Given the description of an element on the screen output the (x, y) to click on. 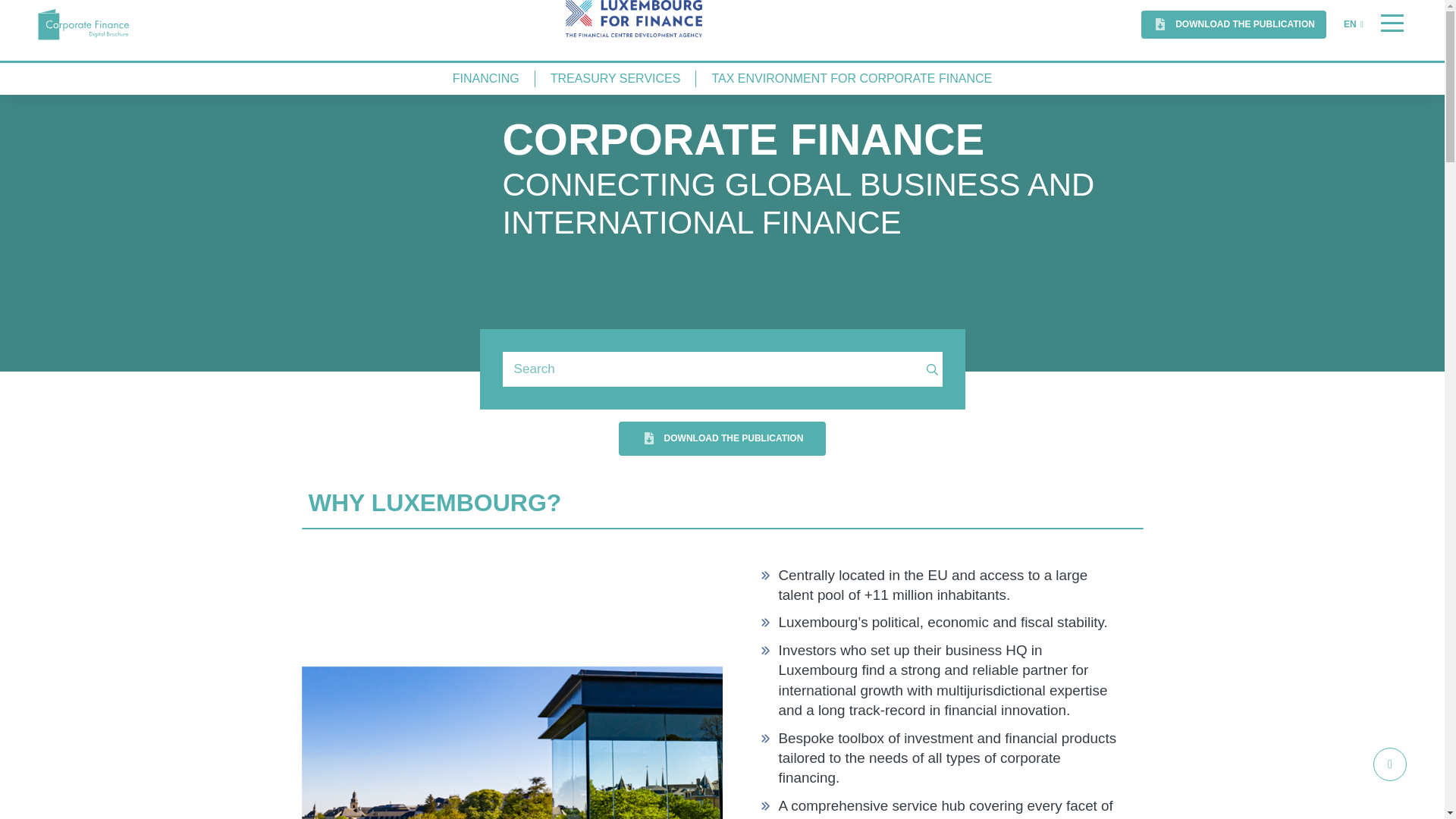
TREASURY SERVICES (615, 79)
TAX ENVIRONMENT FOR CORPORATE FINANCE (851, 79)
FINANCING (486, 79)
EN (1353, 24)
MENU (1391, 23)
DOWNLOAD THE PUBLICATION (1233, 24)
DOWNLOAD THE PUBLICATION (722, 438)
